Given the description of an element on the screen output the (x, y) to click on. 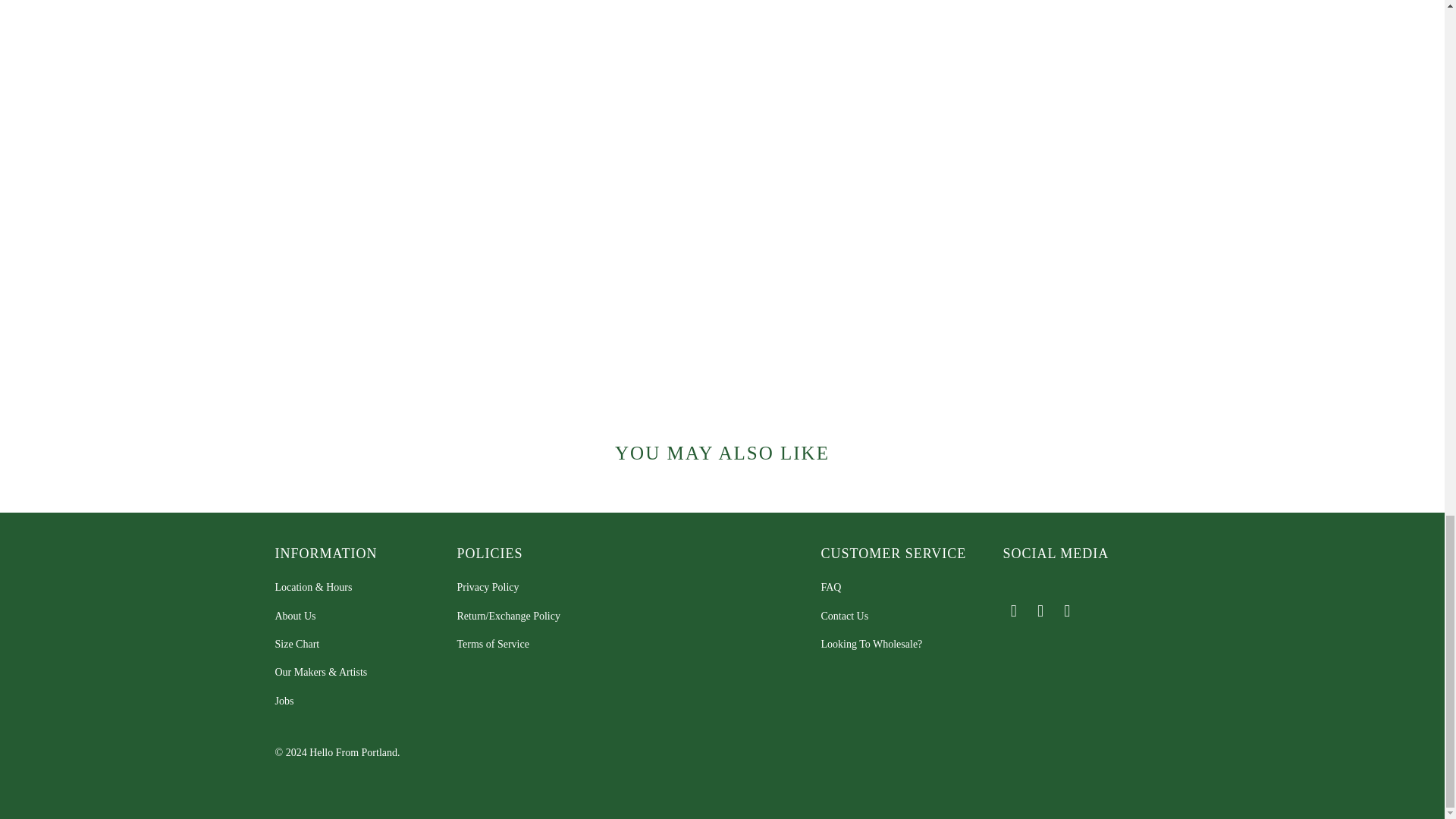
Hello From Portland on Pinterest (1040, 610)
Hello From Portland on Facebook (1014, 610)
Hello From Portland on Instagram (1067, 610)
